Given the description of an element on the screen output the (x, y) to click on. 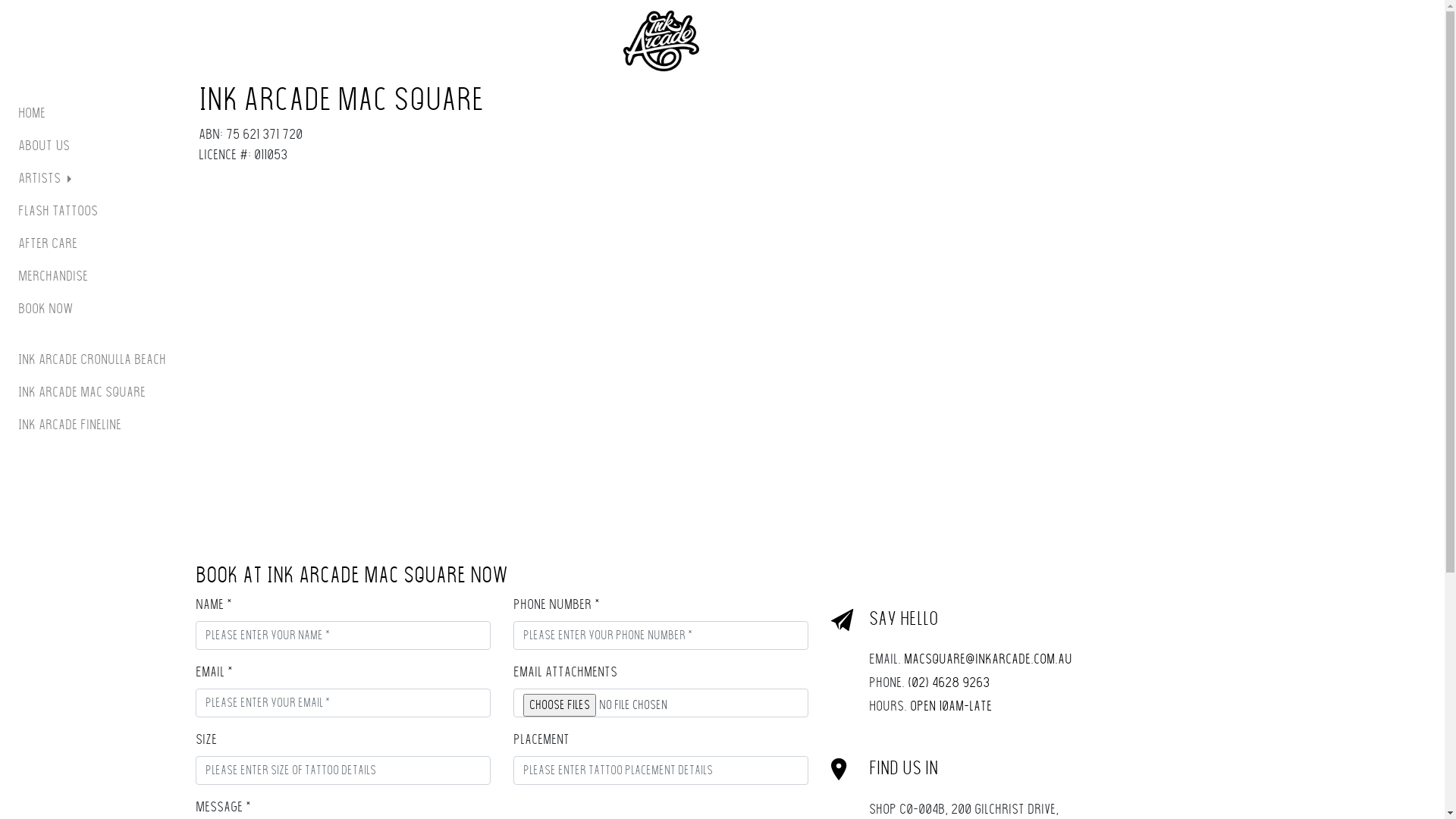
About Us Element type: text (94, 145)
After Care Element type: text (94, 243)
Ink Arcade Cronulla Beach Element type: text (94, 359)
Merchandise Element type: text (94, 276)
Home Element type: text (94, 113)
Ink Arcade Fineline Element type: text (94, 424)
Artists Element type: text (94, 178)
Book Now Element type: text (94, 308)
Flash Tattoos Element type: text (94, 210)
Ink Arcade Mac Square Element type: text (94, 392)
